Given the description of an element on the screen output the (x, y) to click on. 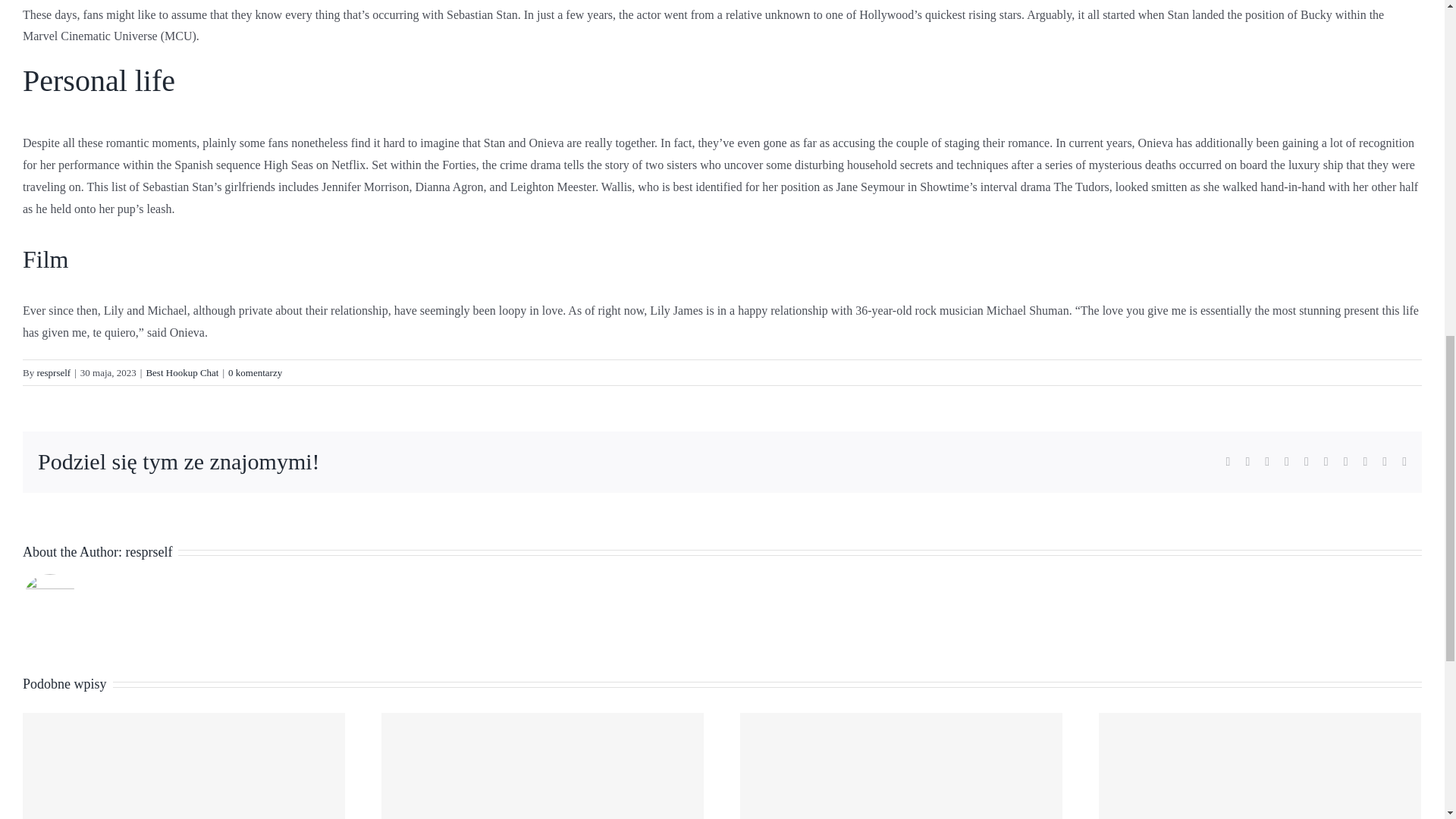
Best Hookup Chat (181, 372)
resprself (52, 372)
0 komentarzy (255, 372)
resprself (149, 551)
